Given the description of an element on the screen output the (x, y) to click on. 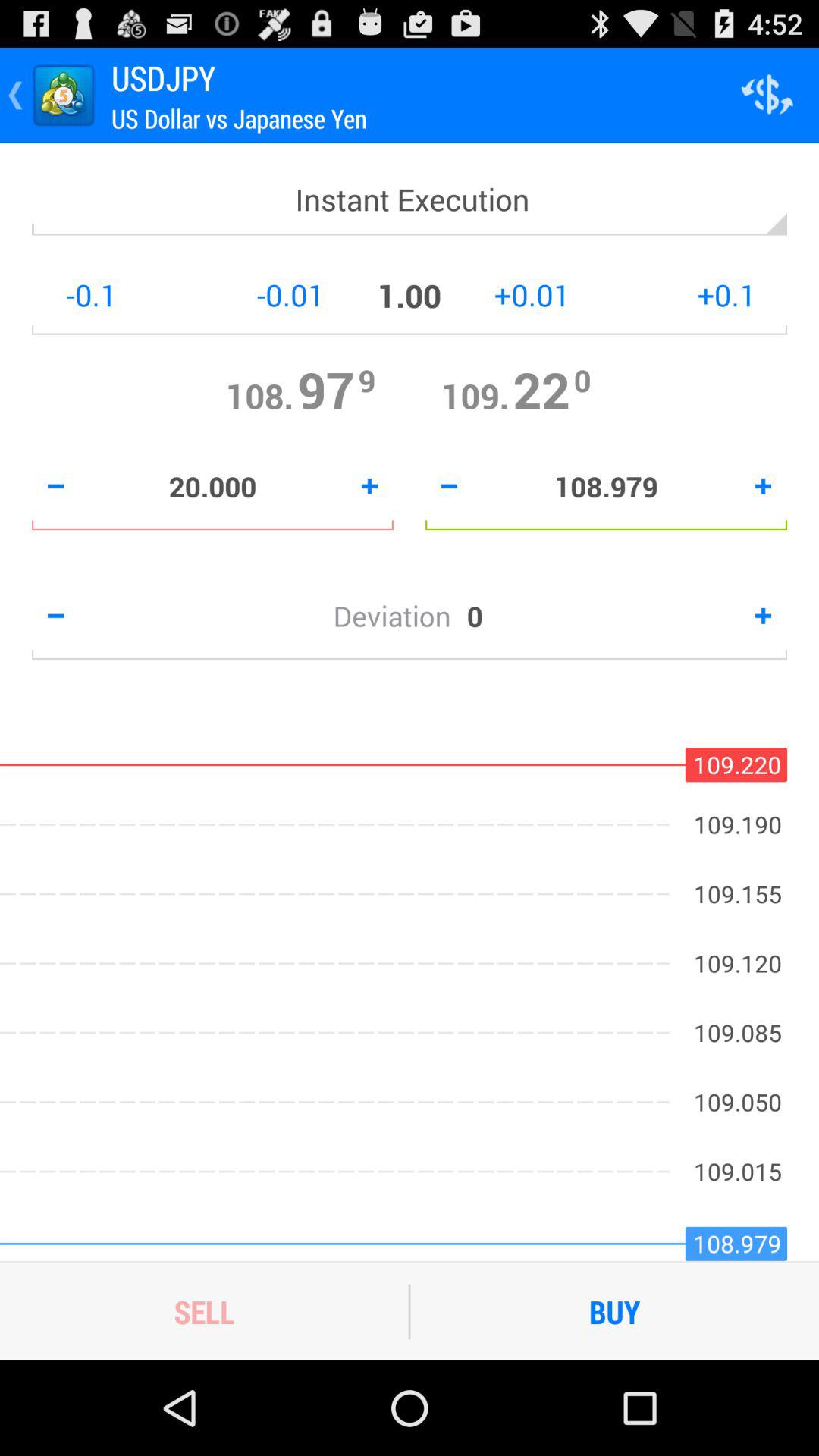
tap icon at the bottom right corner (614, 1311)
